Given the description of an element on the screen output the (x, y) to click on. 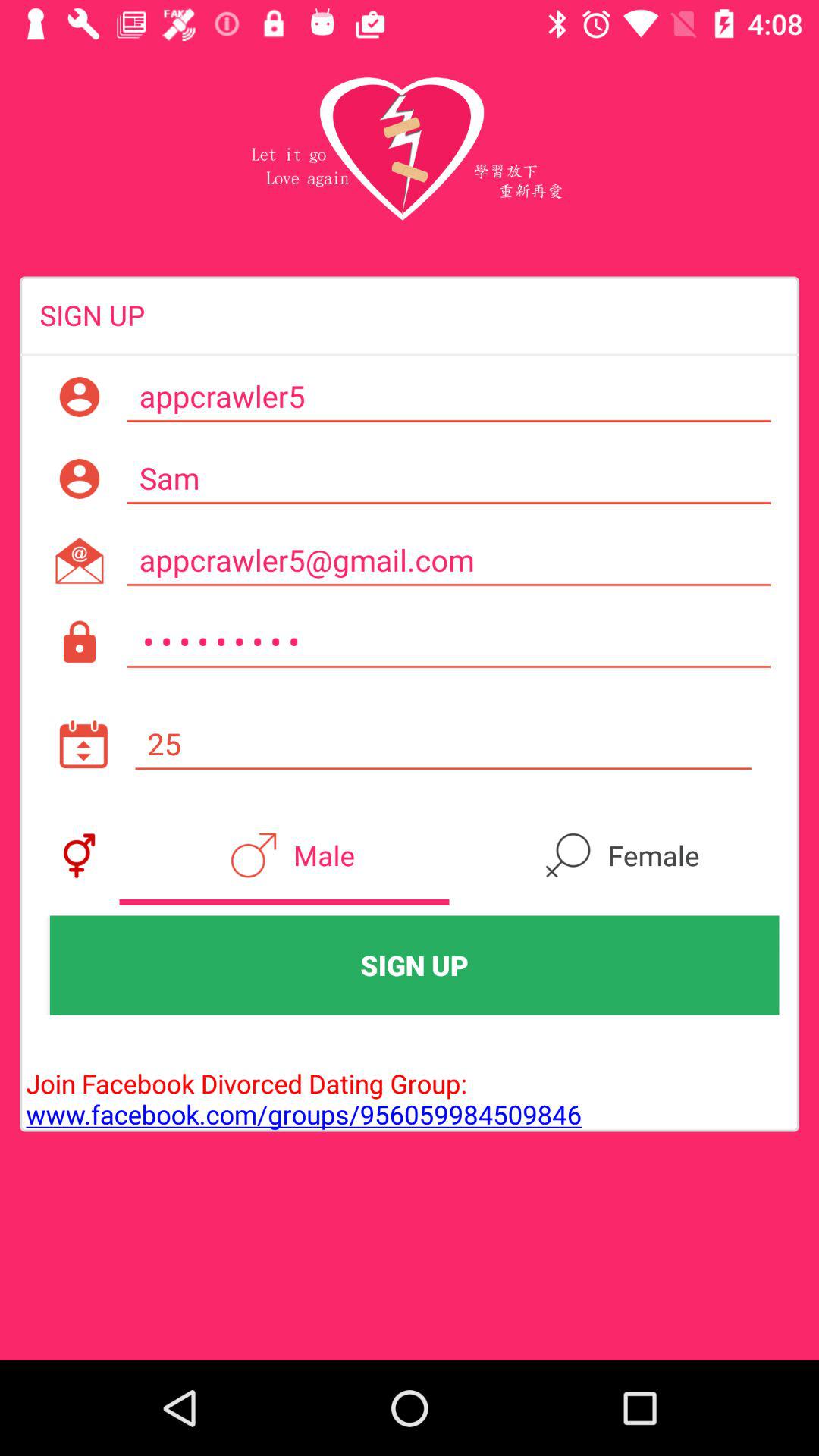
jump until the join facebook divorced icon (300, 1083)
